Given the description of an element on the screen output the (x, y) to click on. 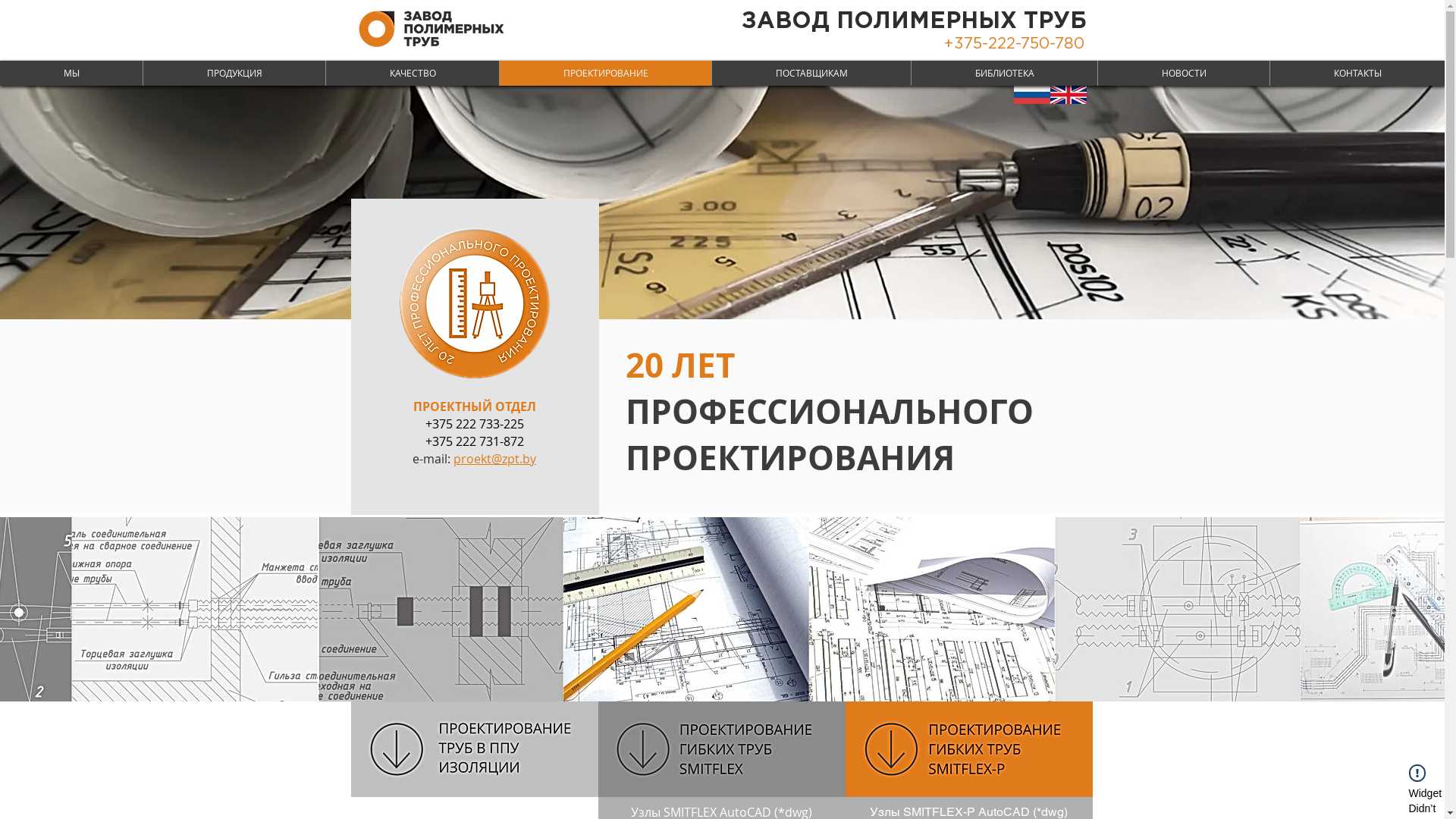
d1a3d1_491a68ae2f3445c1b284df319944bddd (1).png Element type: hover (474, 303)
smitflex-p_proect.png Element type: hover (968, 749)
proekt@zpt.by Element type: text (494, 459)
smitflex_proect.png Element type: hover (720, 749)
ppu_proect.png Element type: hover (473, 749)
